Given the description of an element on the screen output the (x, y) to click on. 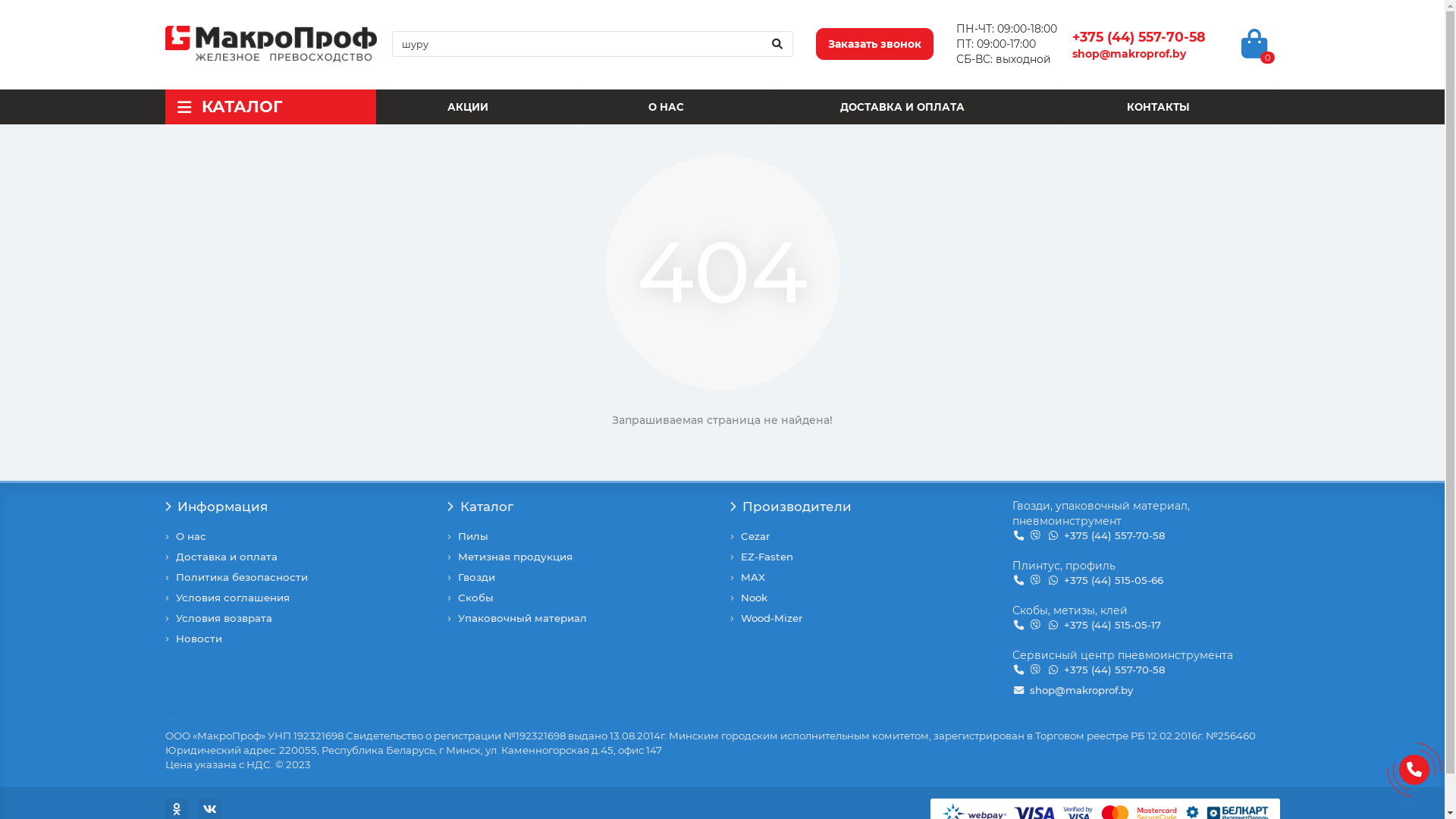
EZ-Fasten Element type: text (766, 556)
MAX Element type: text (752, 577)
Cezar Element type: text (754, 536)
0 Element type: text (1253, 43)
Nook Element type: text (753, 597)
Wood-Mizer Element type: text (770, 618)
